Given the description of an element on the screen output the (x, y) to click on. 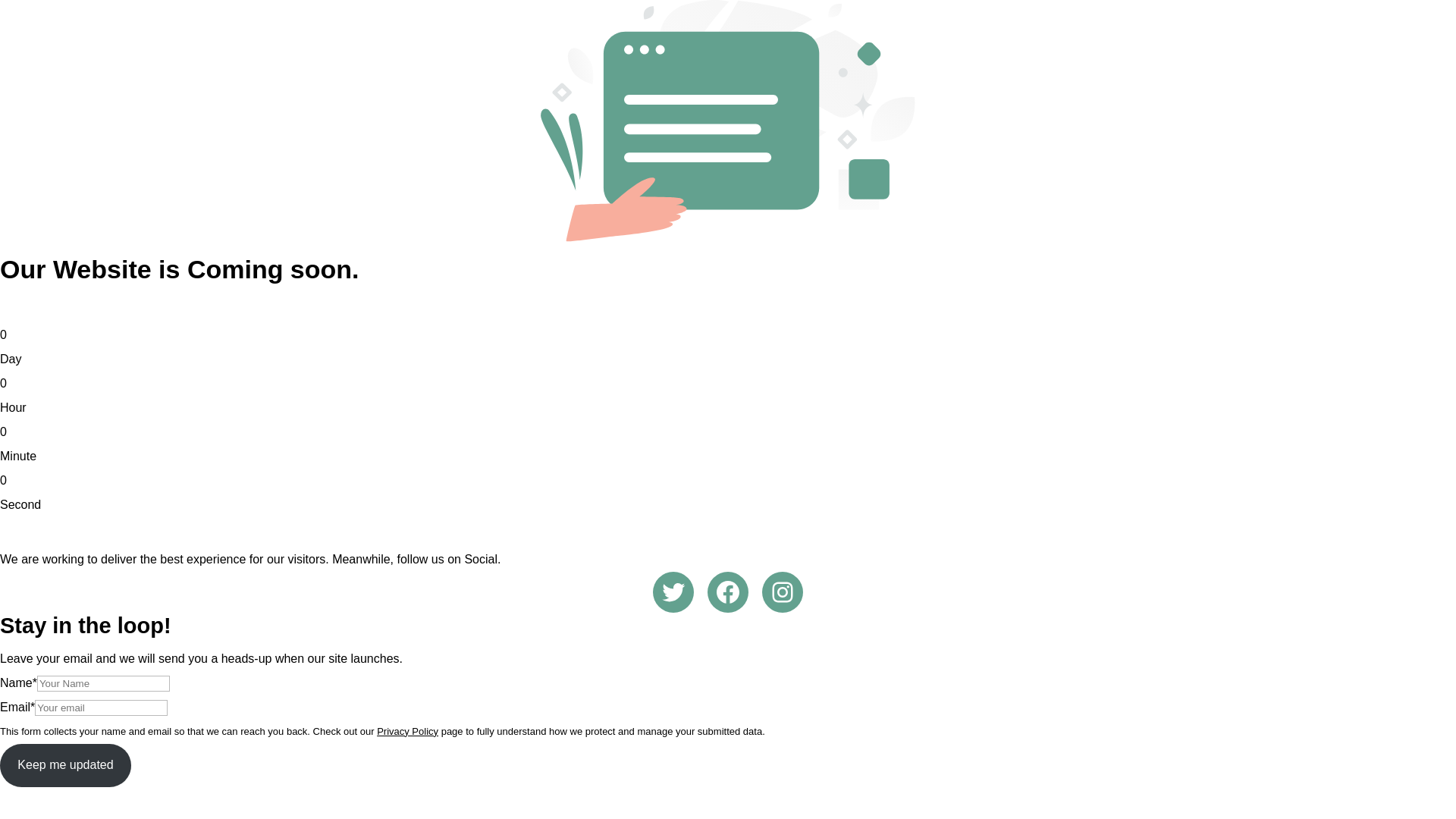
Twitter (673, 591)
Instagram (782, 591)
Facebook (727, 591)
Privacy Policy (407, 731)
